Given the description of an element on the screen output the (x, y) to click on. 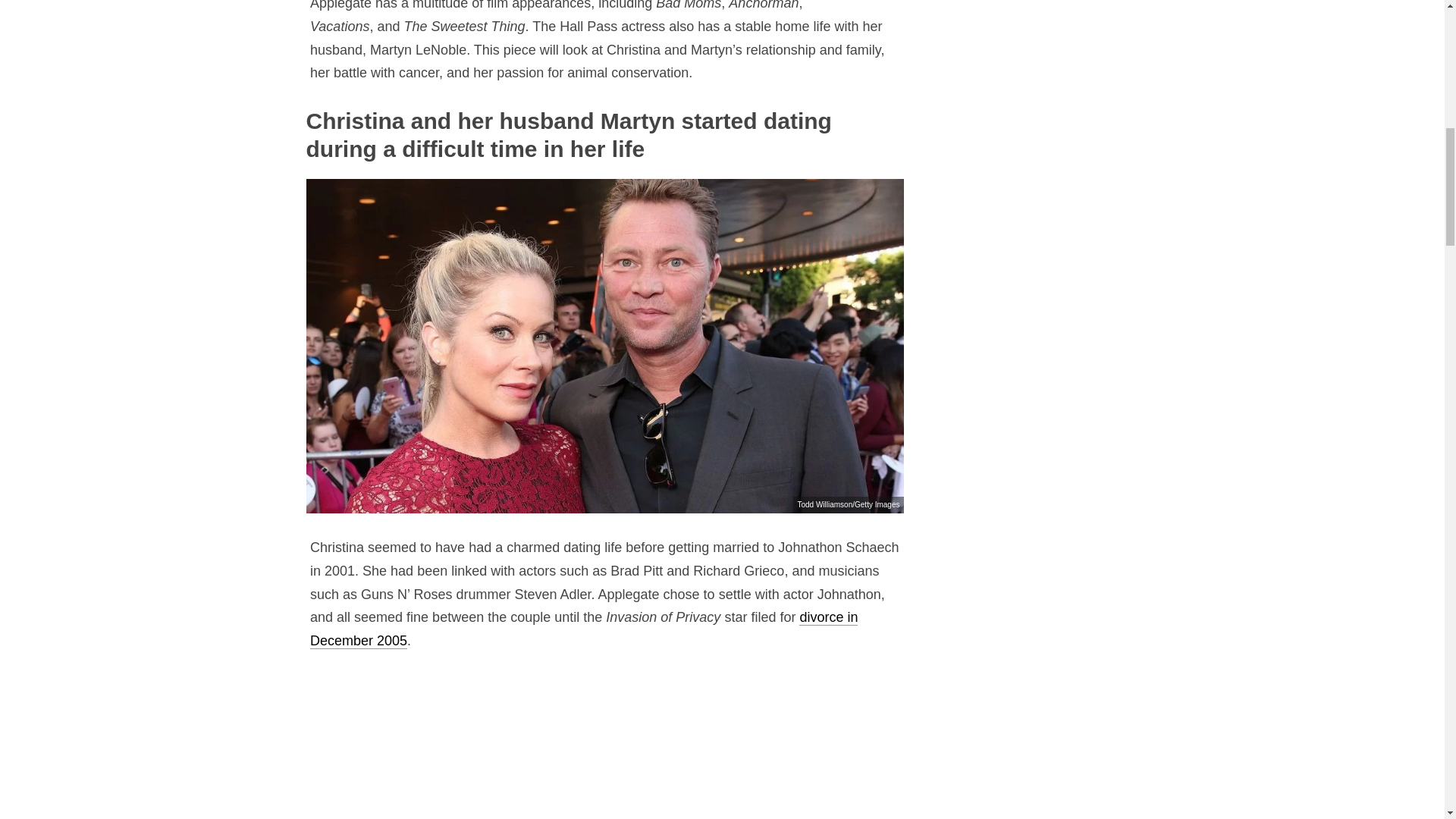
divorce in December 2005 (583, 629)
